Given the description of an element on the screen output the (x, y) to click on. 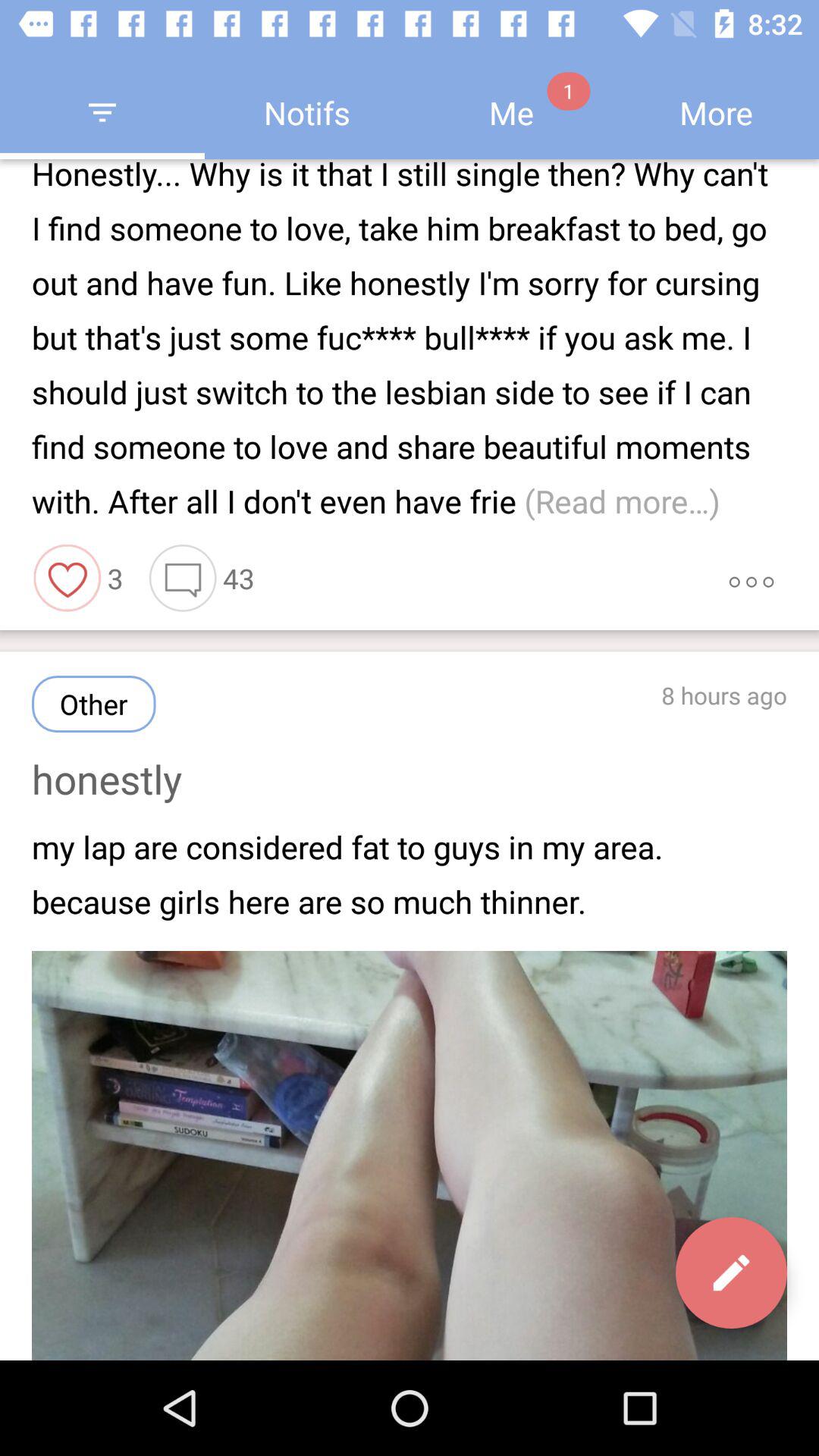
select icon next to the 3 icon (67, 578)
